Given the description of an element on the screen output the (x, y) to click on. 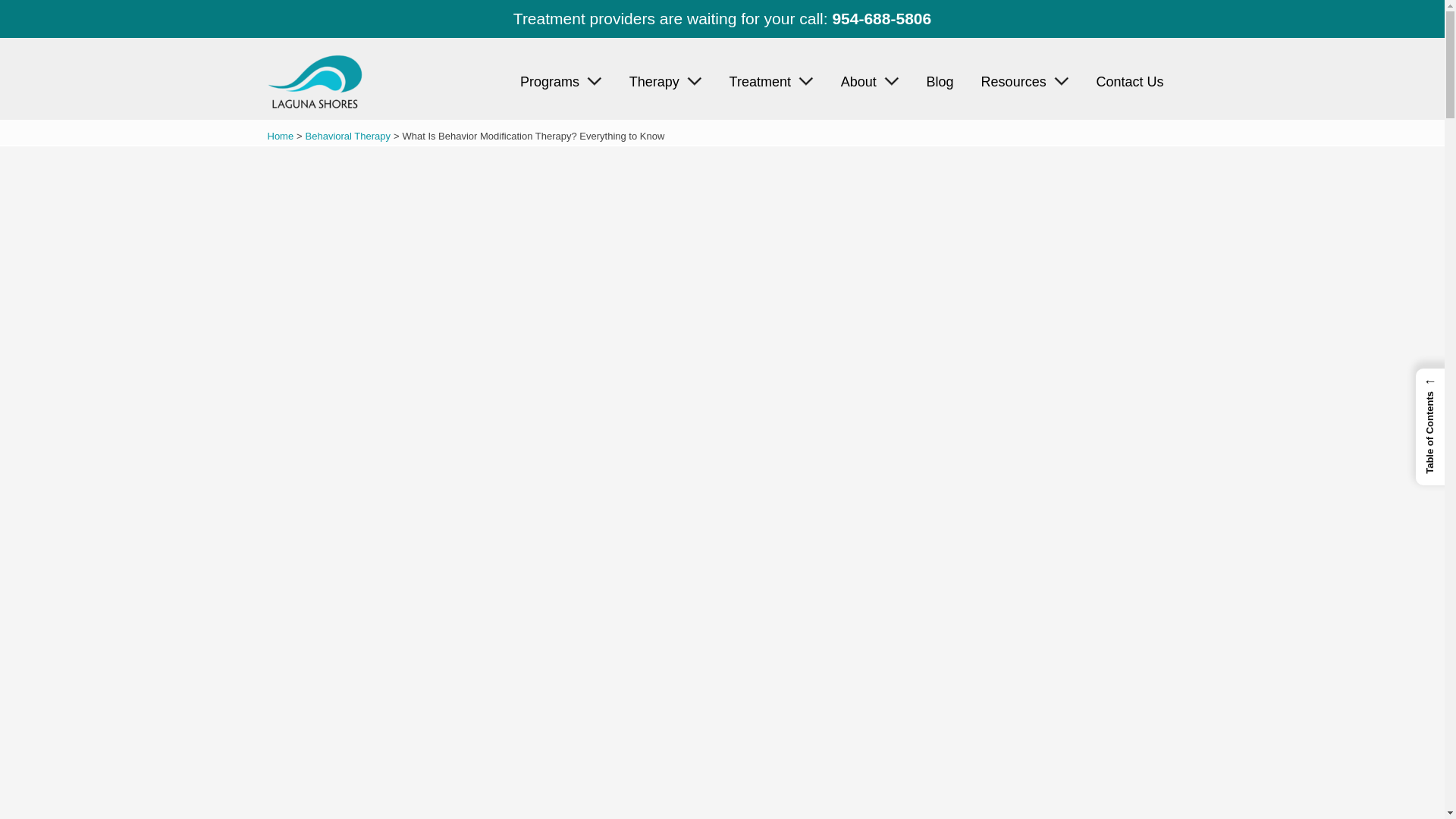
Programs (560, 81)
Treatment (771, 81)
954-688-5806 (881, 17)
Call us now (881, 17)
Therapy (665, 81)
